Given the description of an element on the screen output the (x, y) to click on. 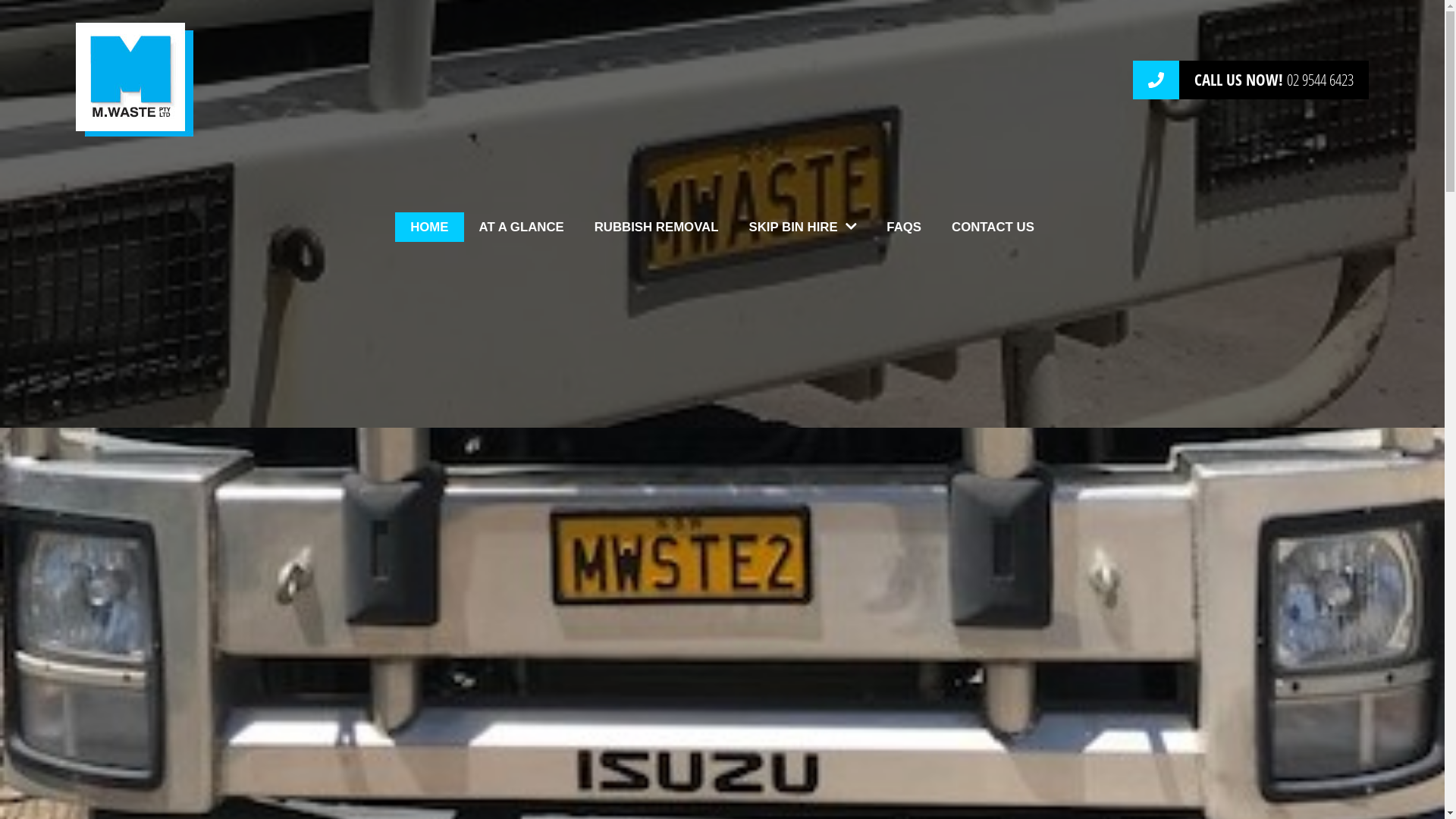
FAQS Element type: text (903, 226)
CALL US NOW!
 02 9544 6423 Element type: text (1250, 79)
HOME Element type: text (429, 226)
SKIP BIN HIRE
TOGGLE DROPDOWN Element type: text (802, 226)
CONTACT US Element type: text (992, 226)
RUBBISH REMOVAL Element type: text (656, 226)
AT A GLANCE Element type: text (521, 226)
